Given the description of an element on the screen output the (x, y) to click on. 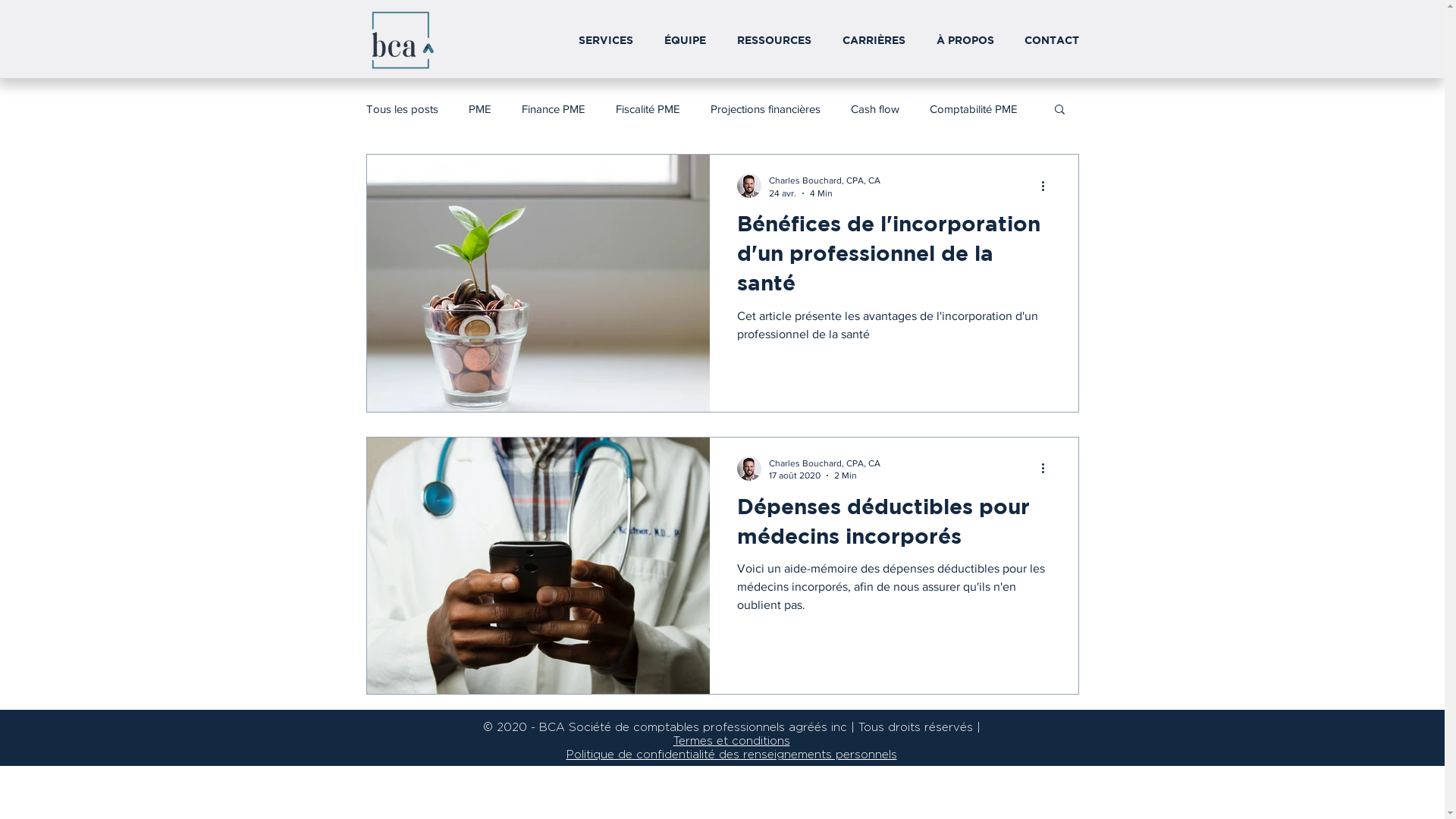
Charles Bouchard, CPA, CA Element type: text (824, 179)
RESSOURCES Element type: text (774, 40)
PME Element type: text (479, 107)
CONTACT Element type: text (1050, 40)
Tous les posts Element type: text (401, 107)
SERVICES Element type: text (605, 40)
Termes et conditions Element type: text (731, 740)
Finance PME Element type: text (553, 107)
Cash flow Element type: text (874, 107)
Charles Bouchard, CPA, CA Element type: text (824, 462)
